Given the description of an element on the screen output the (x, y) to click on. 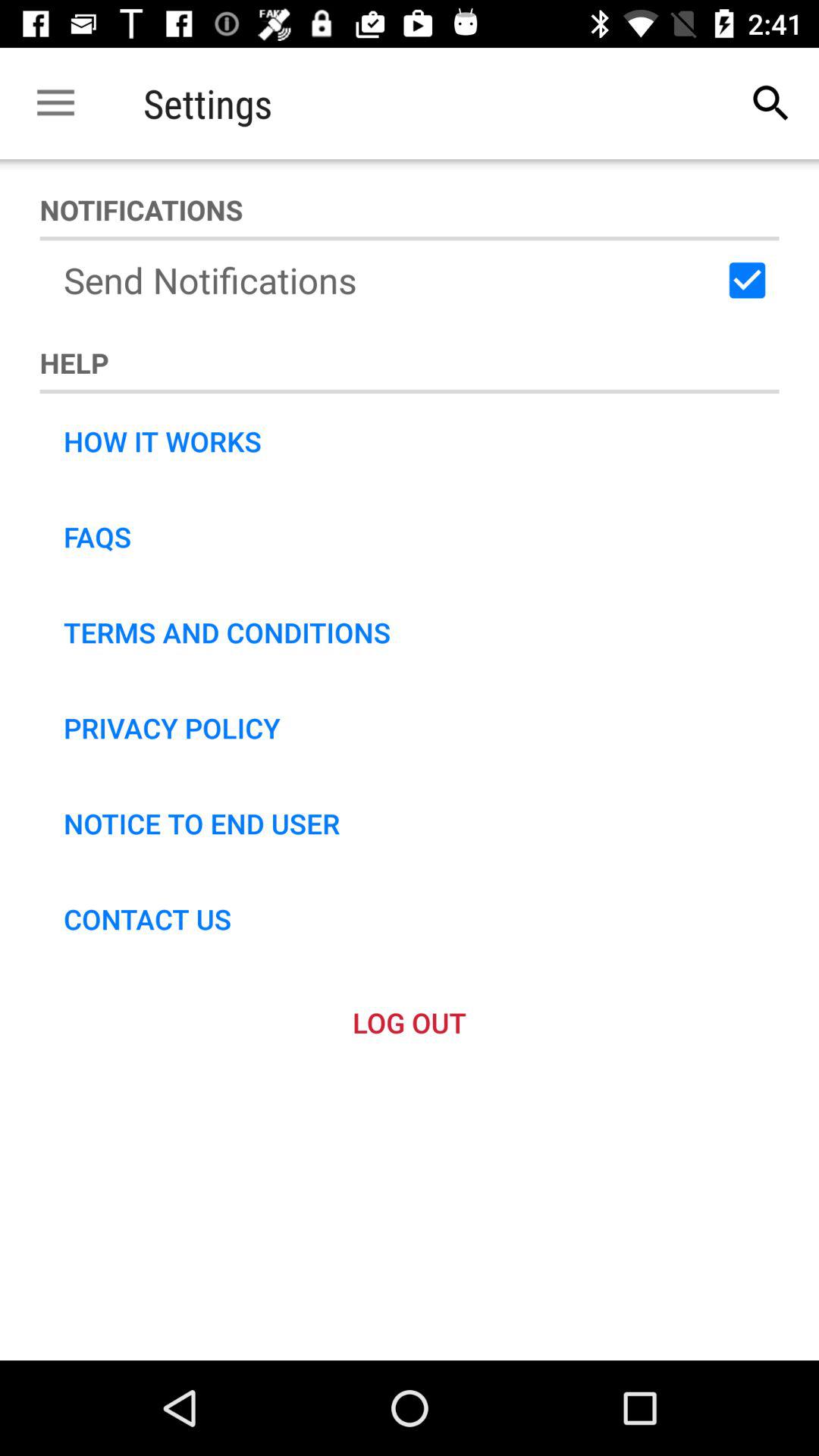
click log out (409, 1022)
